Given the description of an element on the screen output the (x, y) to click on. 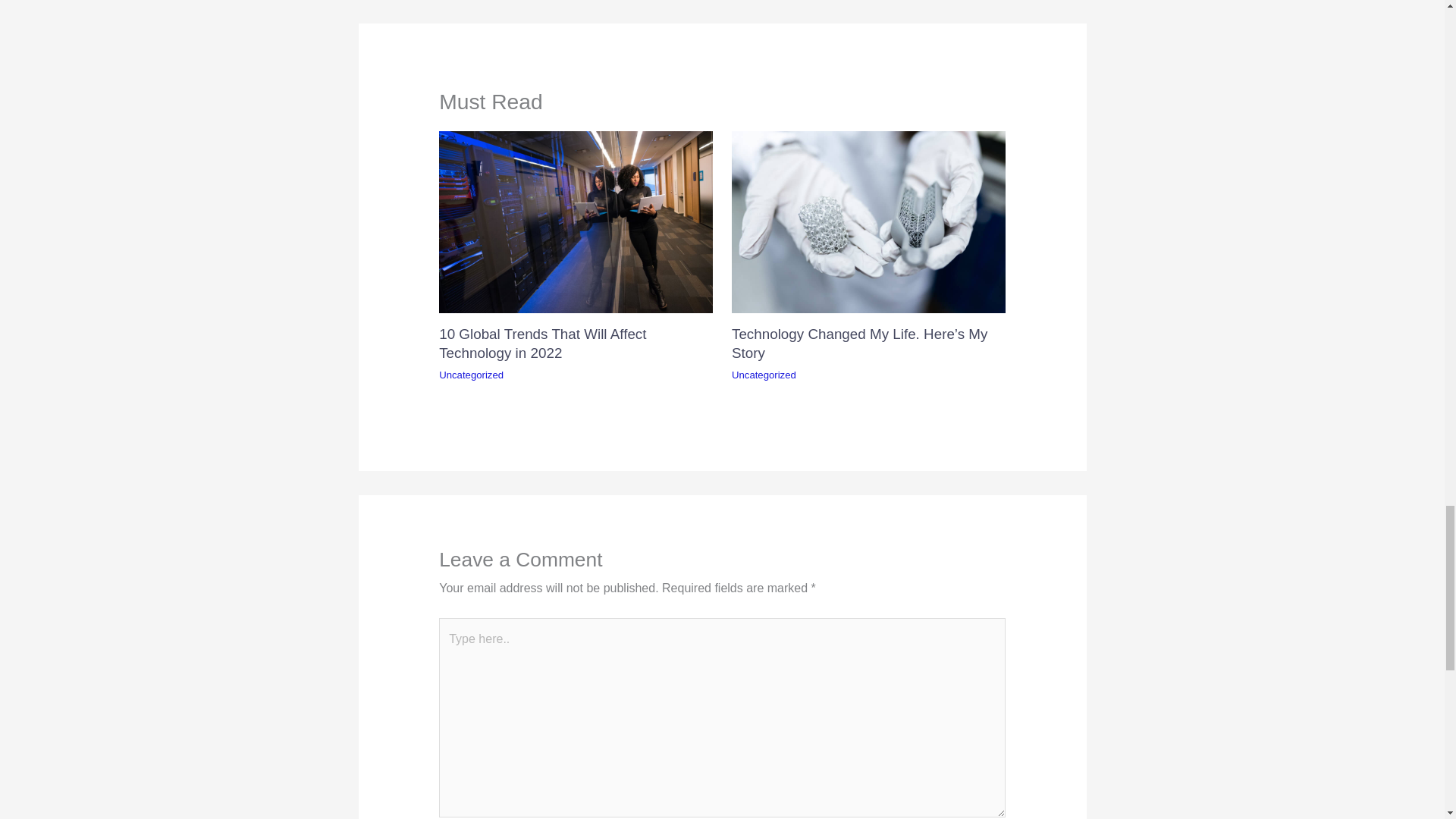
10 Global Trends That Will Affect Technology in 2022 (542, 342)
Uncategorized (764, 374)
Uncategorized (471, 374)
